Given the description of an element on the screen output the (x, y) to click on. 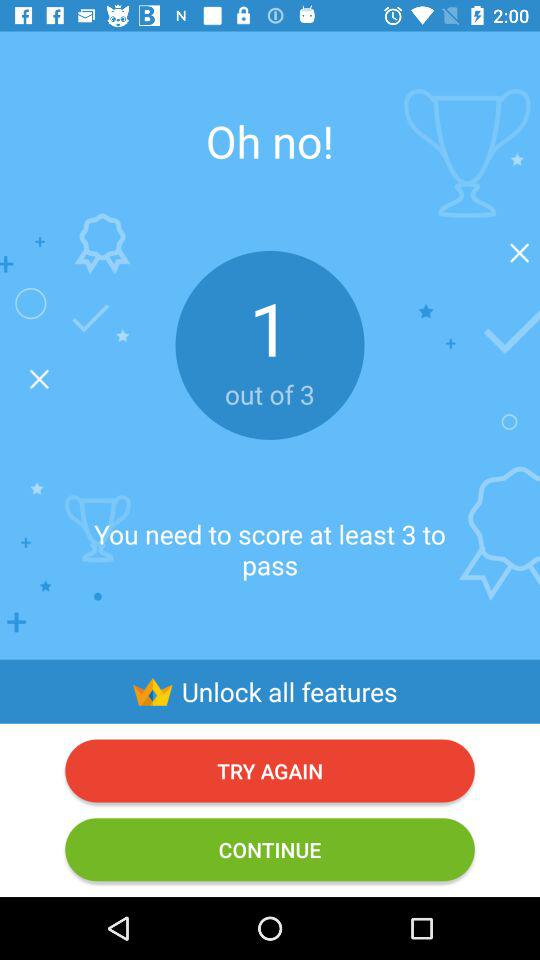
turn on the try again item (269, 770)
